Given the description of an element on the screen output the (x, y) to click on. 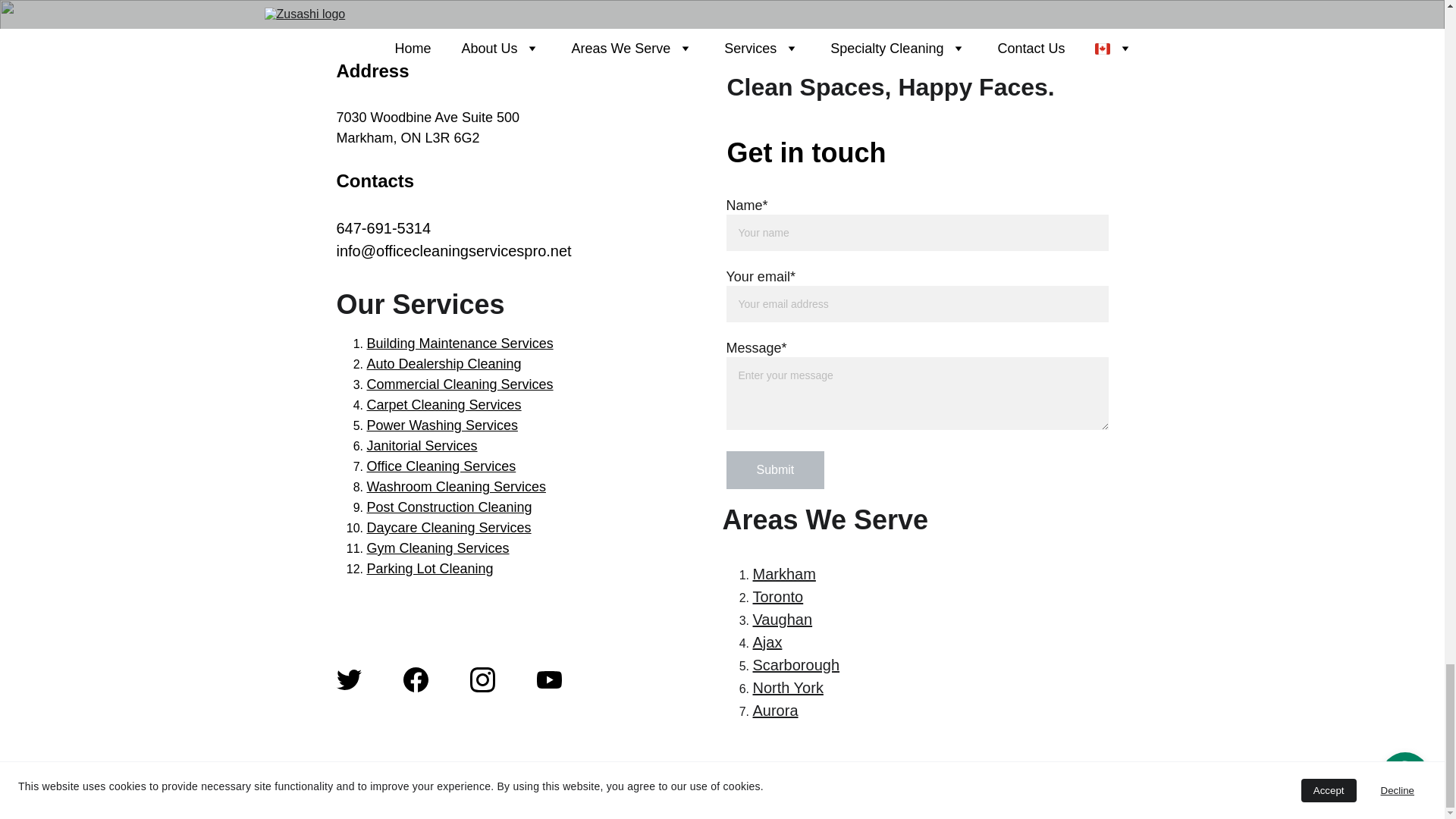
Go to Facebook page (415, 679)
Go to Youtube page (549, 679)
Go to Instagram page (482, 679)
Go to Twitter page (348, 679)
